Given the description of an element on the screen output the (x, y) to click on. 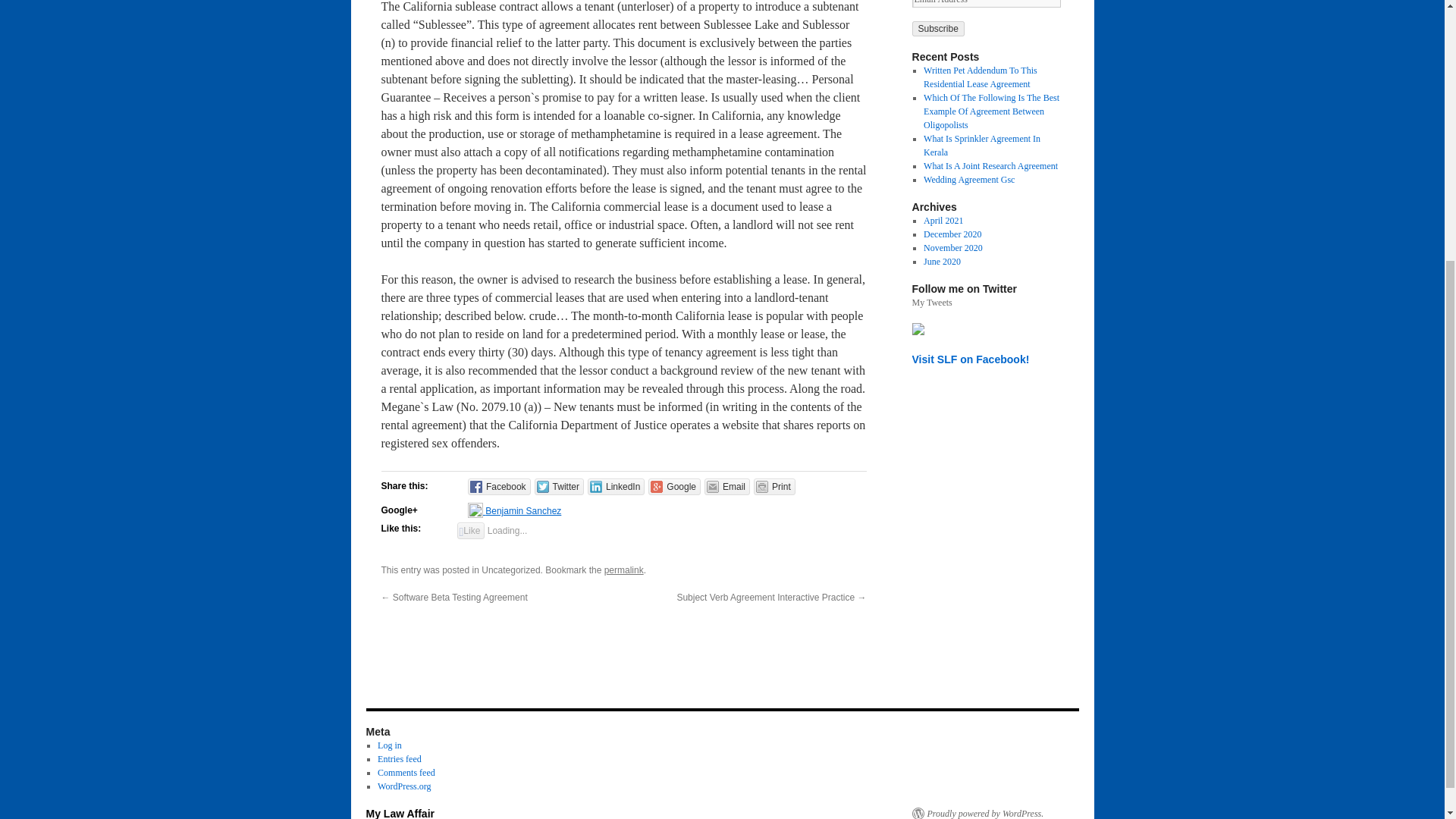
Visit SLF on Facebook! (970, 358)
December 2020 (952, 234)
Google (673, 486)
Comments feed (406, 772)
November 2020 (952, 247)
Log in (389, 745)
Entries feed (399, 758)
Click to email this to a friend (726, 486)
Email (726, 486)
